Given the description of an element on the screen output the (x, y) to click on. 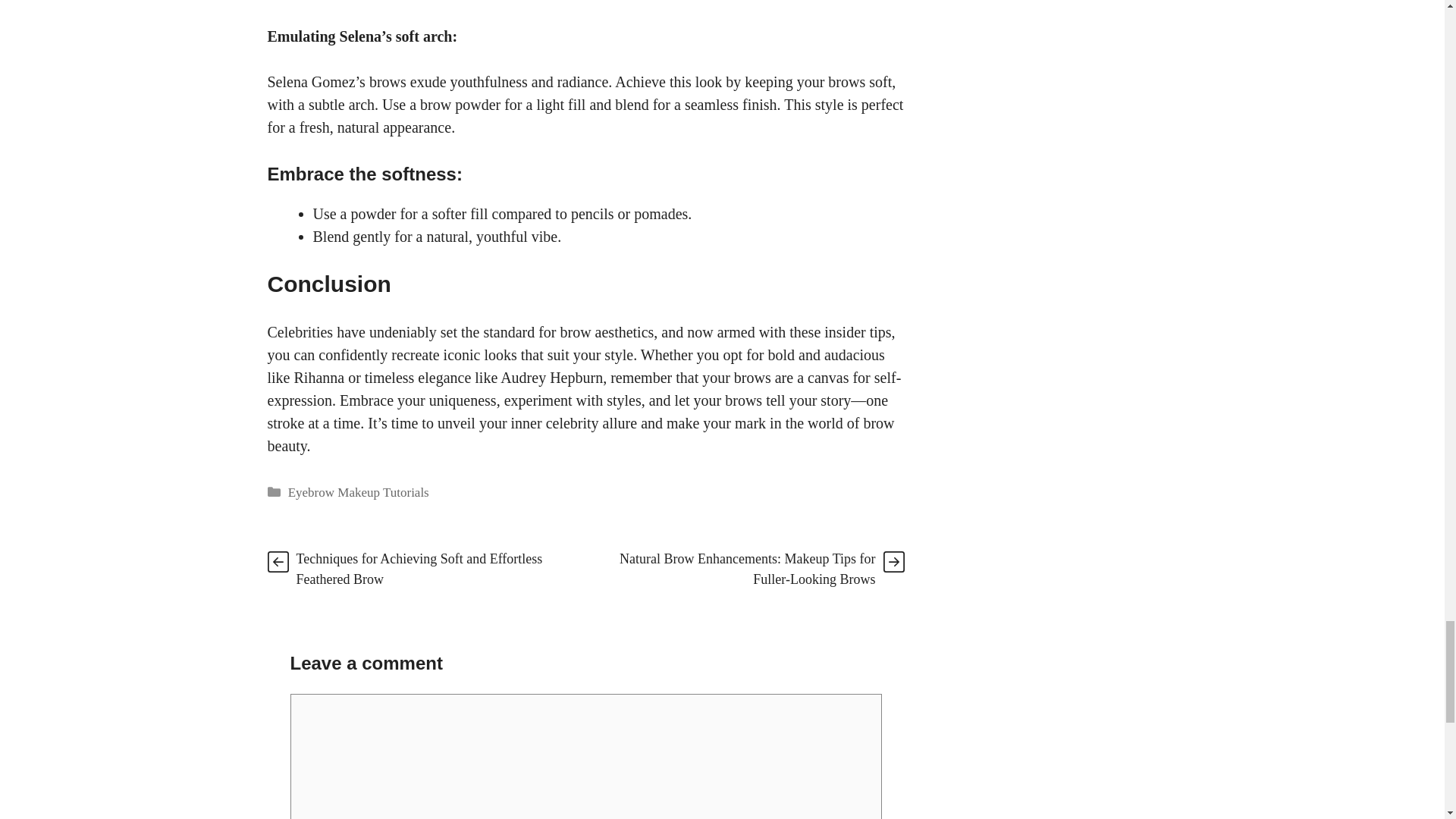
Techniques for Achieving Soft and Effortless Feathered Brow (418, 569)
Eyebrow Makeup Tutorials (358, 492)
